Given the description of an element on the screen output the (x, y) to click on. 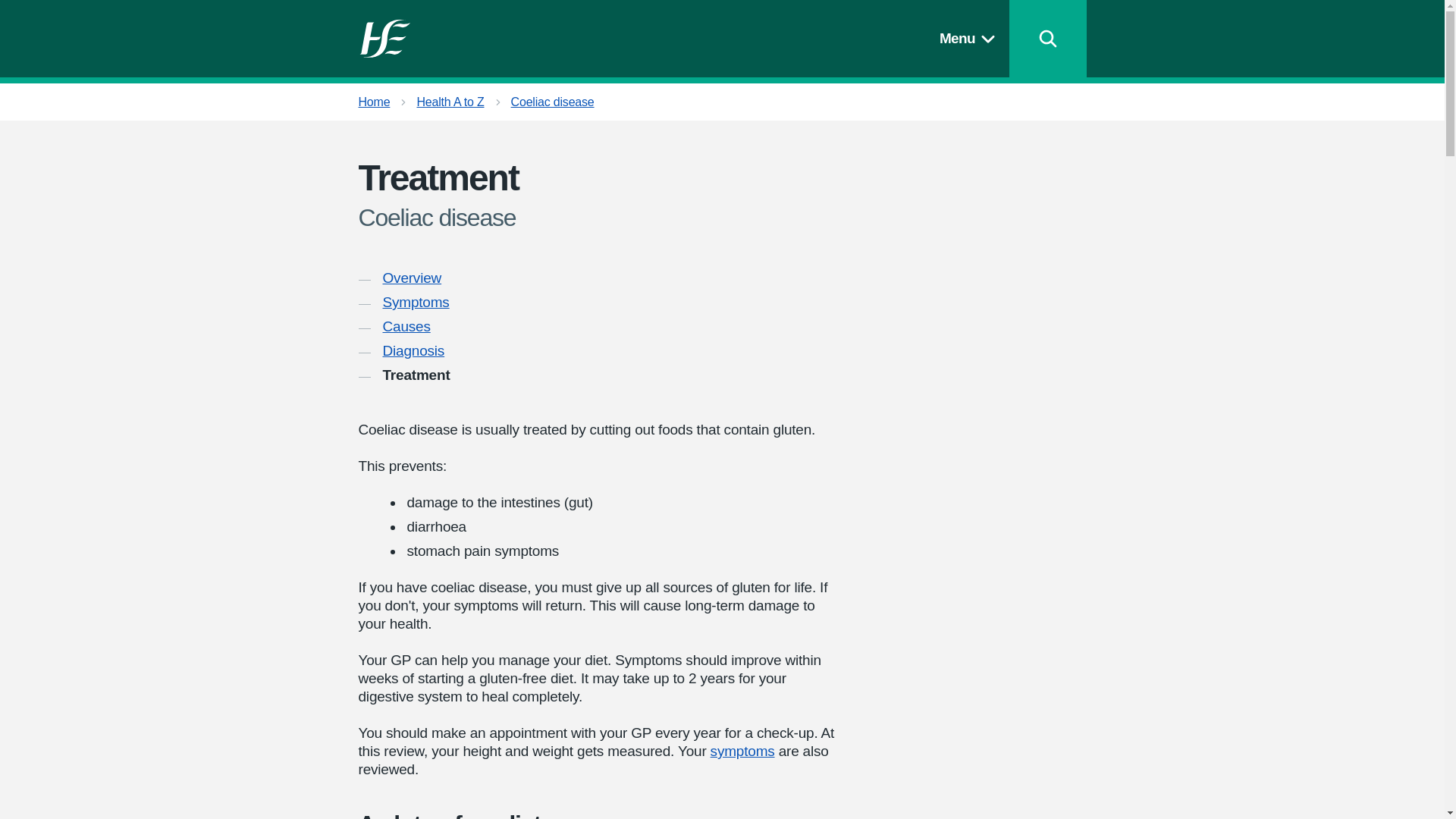
Diagnosis (412, 351)
Home (374, 101)
Symptoms (414, 302)
Menu (970, 38)
Coeliac disease (552, 101)
Health A to Z (449, 101)
Toggle search (1047, 38)
Overview (411, 278)
Causes (405, 326)
symptoms (742, 750)
